Given the description of an element on the screen output the (x, y) to click on. 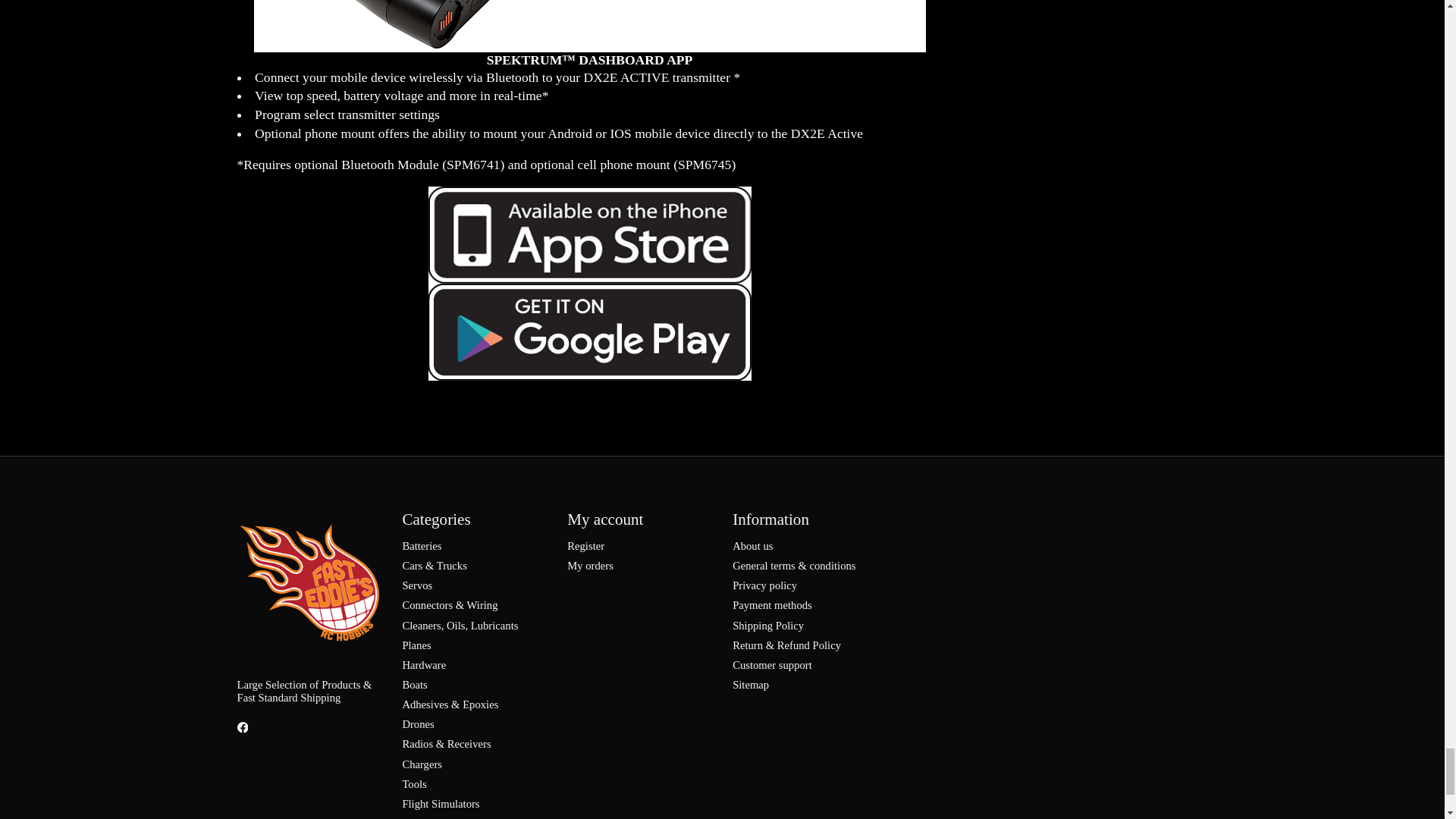
Register (585, 545)
Shipping Policy (767, 625)
Sitemap (750, 684)
Customer support (772, 664)
About us (752, 545)
Privacy policy (764, 585)
My orders (589, 565)
Payment methods (772, 604)
